Given the description of an element on the screen output the (x, y) to click on. 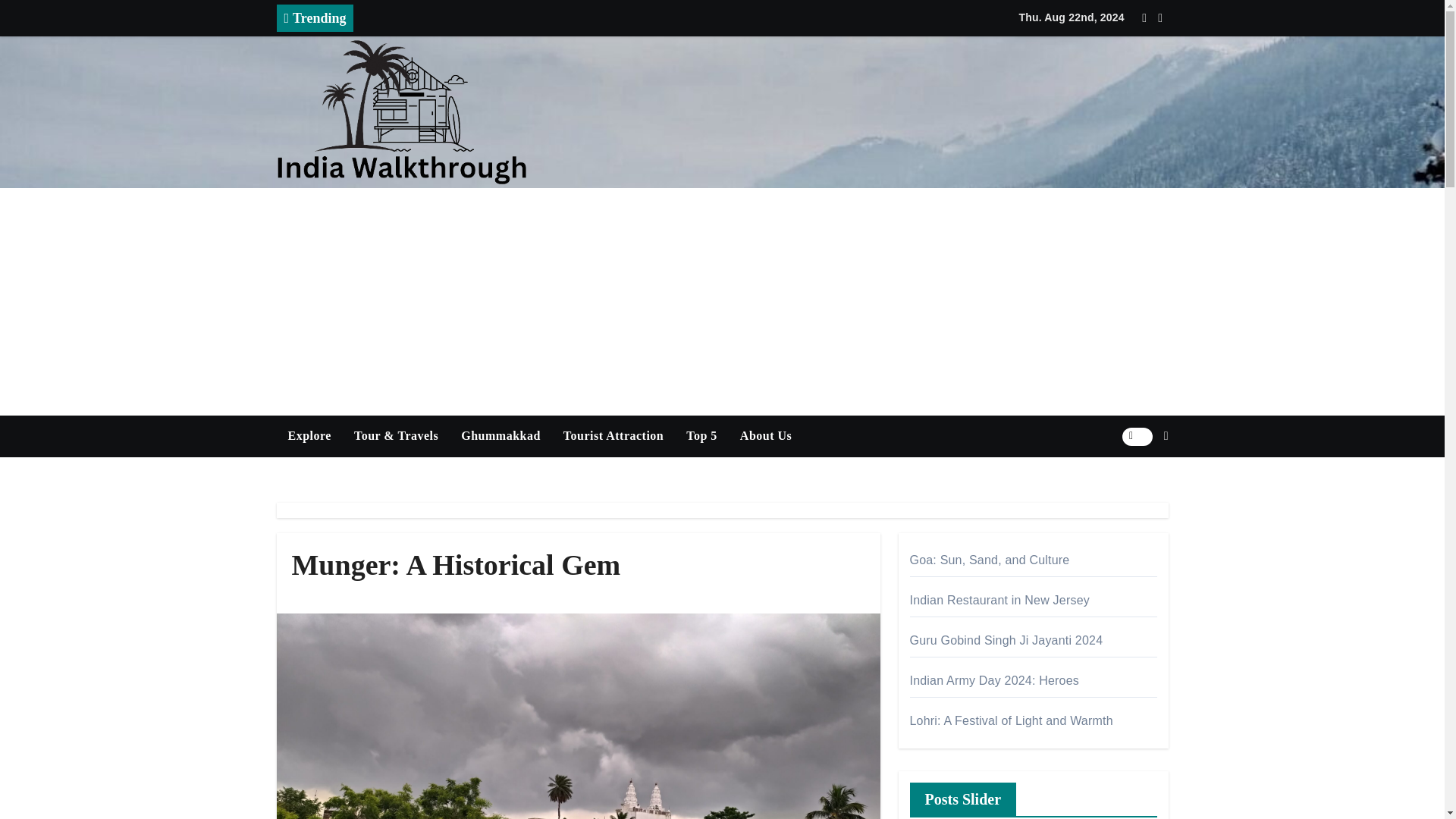
Explore (309, 435)
Explore (309, 435)
